Given the description of an element on the screen output the (x, y) to click on. 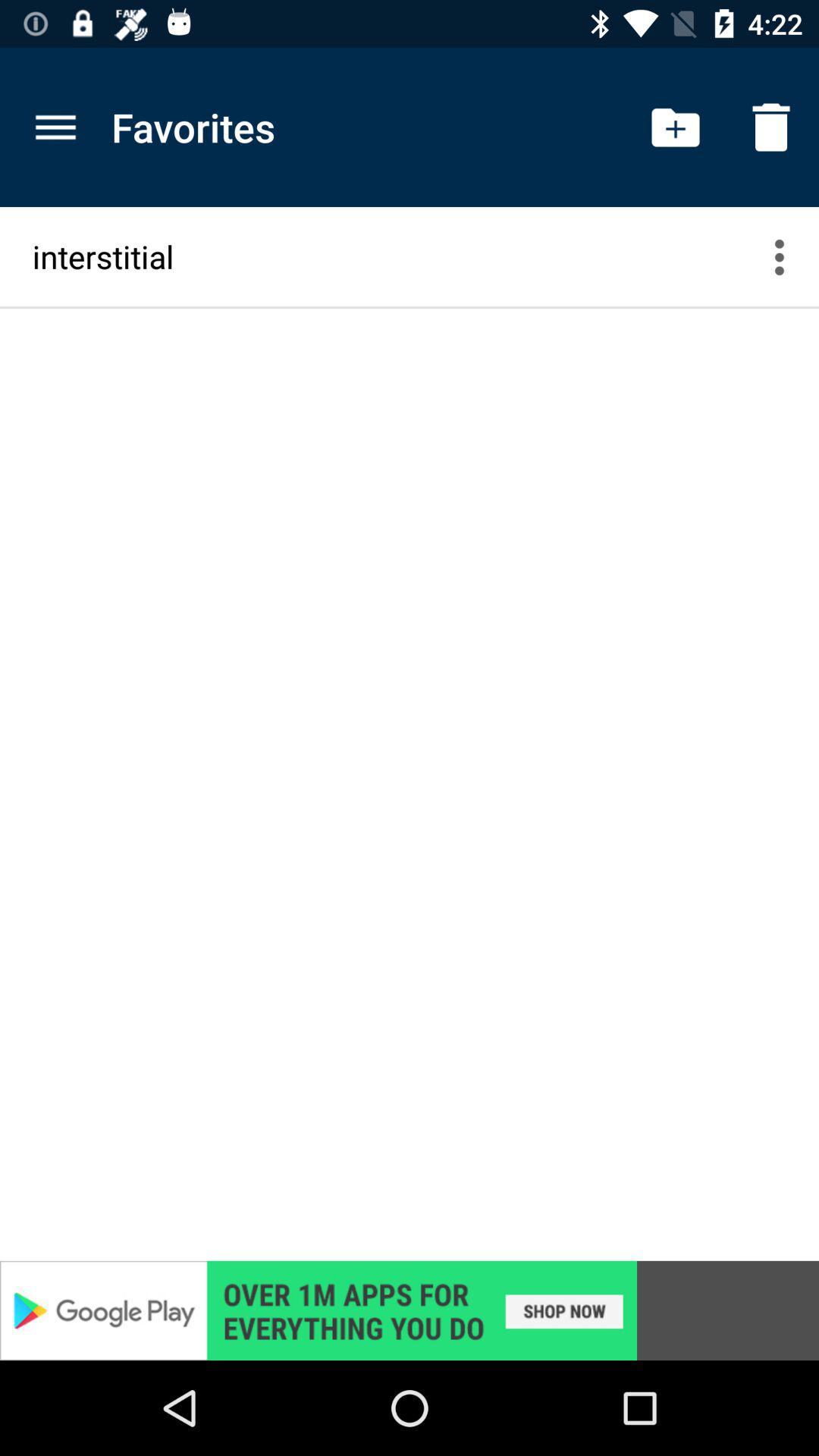
expand information (789, 256)
